Given the description of an element on the screen output the (x, y) to click on. 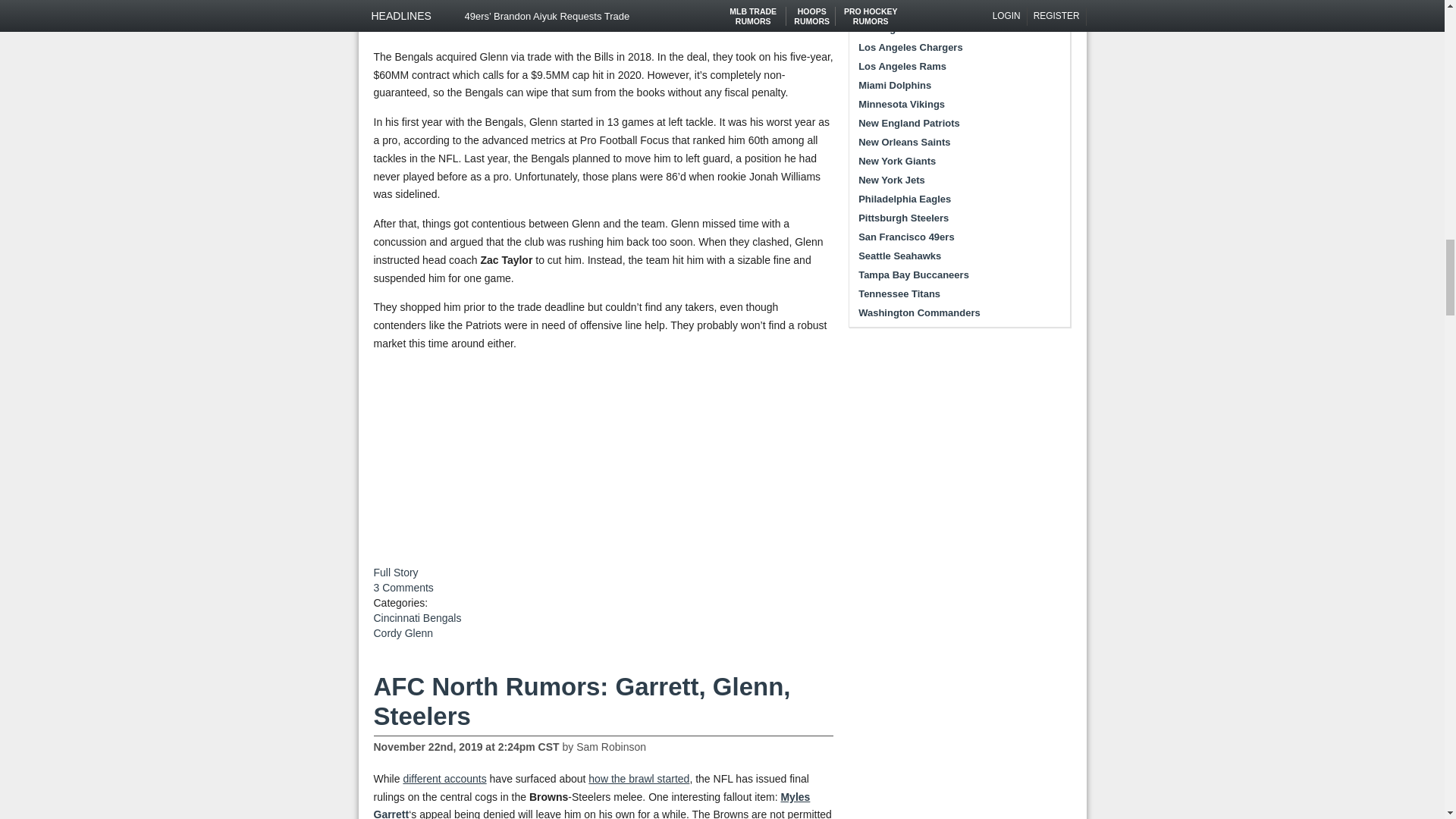
View all posts in Cincinnati Bengals (416, 617)
View all posts in Cordy Glenn (402, 633)
